Given the description of an element on the screen output the (x, y) to click on. 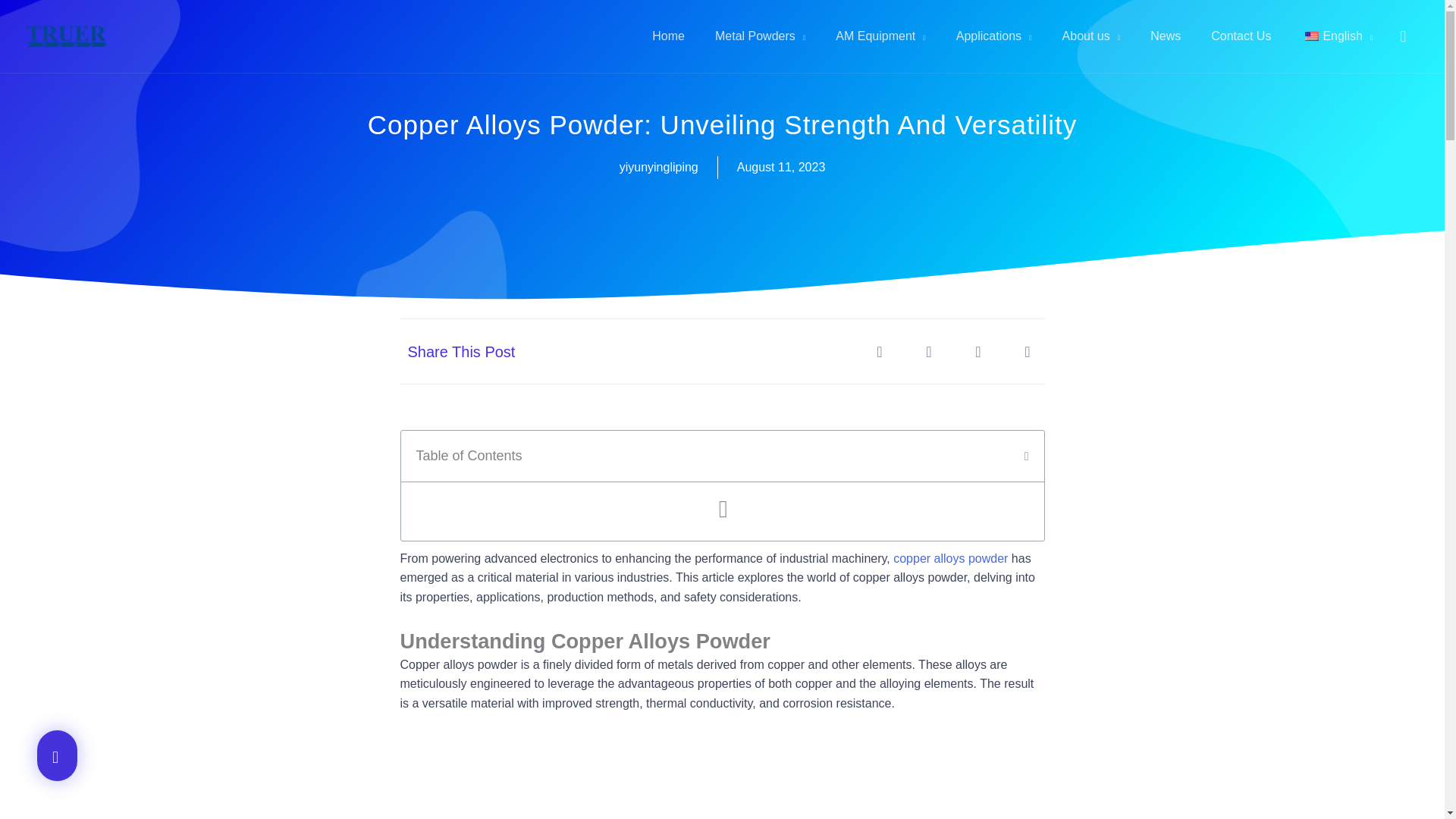
AM Equipment (880, 36)
Copper Alloys Powder: Unveiling Strength and Versatility 1 (722, 776)
Home (668, 36)
English (1311, 35)
Metal Powders (760, 36)
